Given the description of an element on the screen output the (x, y) to click on. 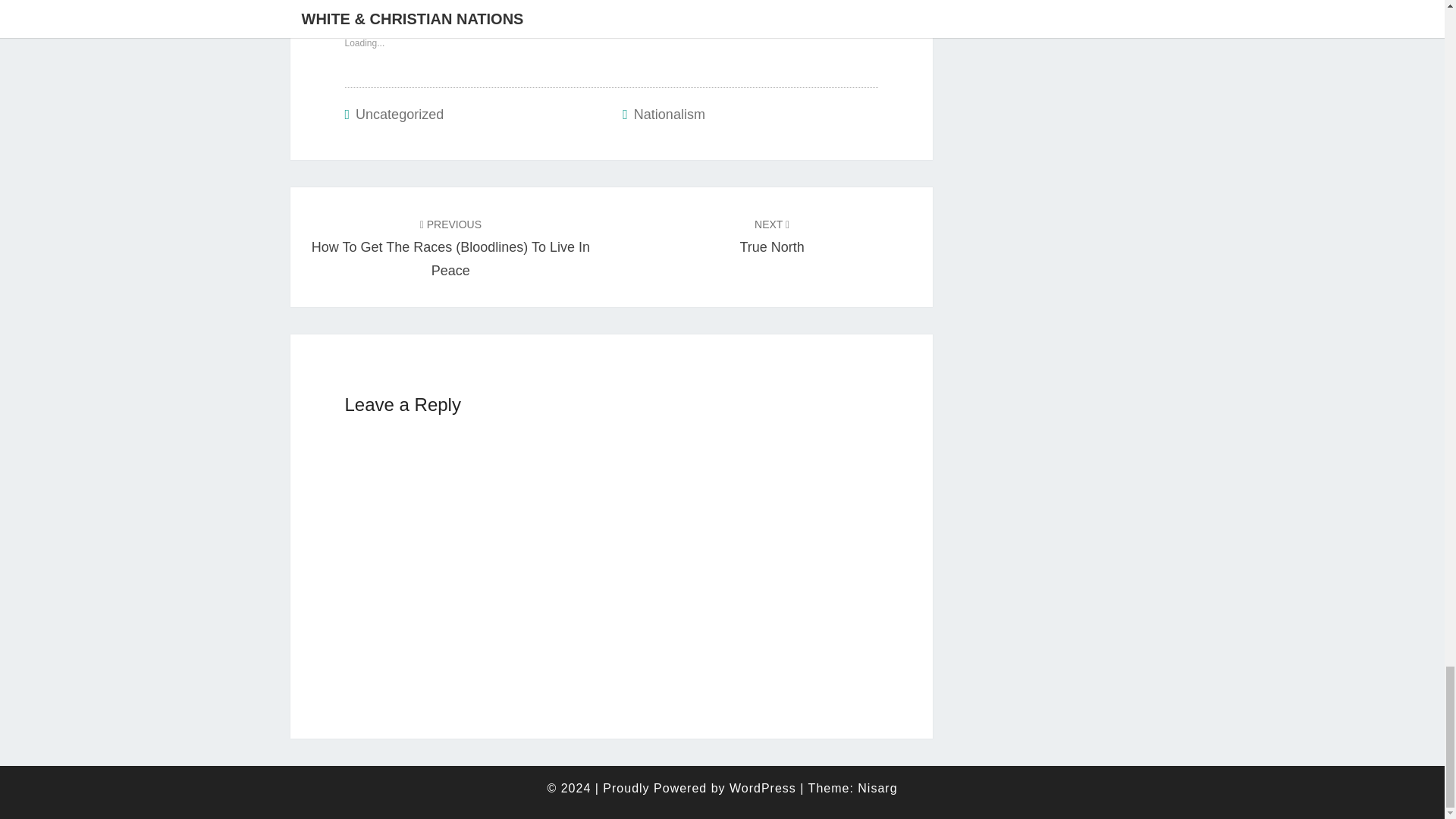
WordPress (771, 235)
Uncategorized (762, 788)
Comment Form (399, 114)
Nationalism (610, 543)
